Given the description of an element on the screen output the (x, y) to click on. 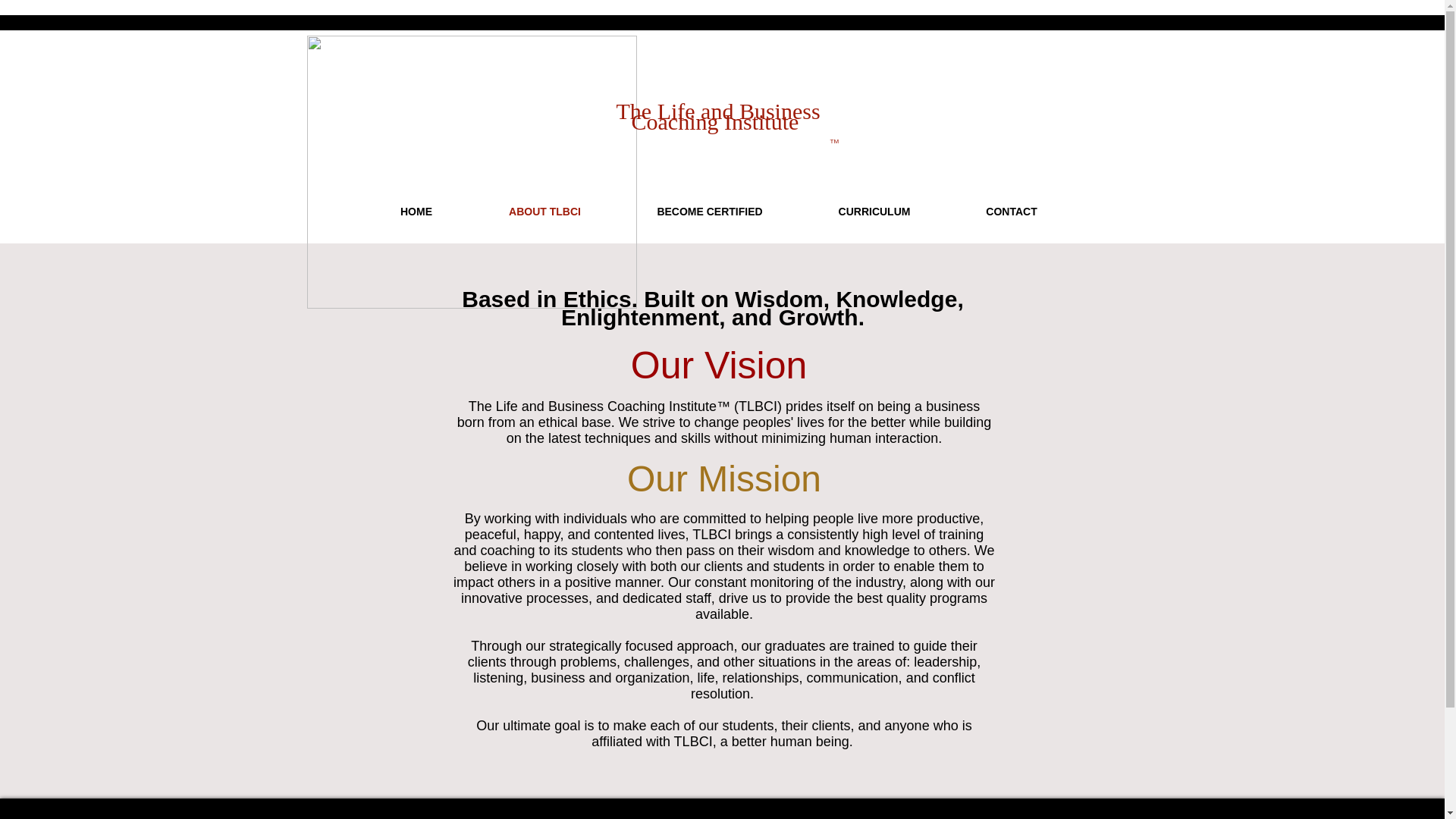
ABOUT TLBCI (544, 212)
CURRICULUM (874, 212)
TLBCI (470, 172)
BECOME CERTIFIED (708, 212)
Coaching Institute (713, 121)
HOME (416, 212)
The Life and Business (717, 110)
CONTACT (1010, 212)
